Given the description of an element on the screen output the (x, y) to click on. 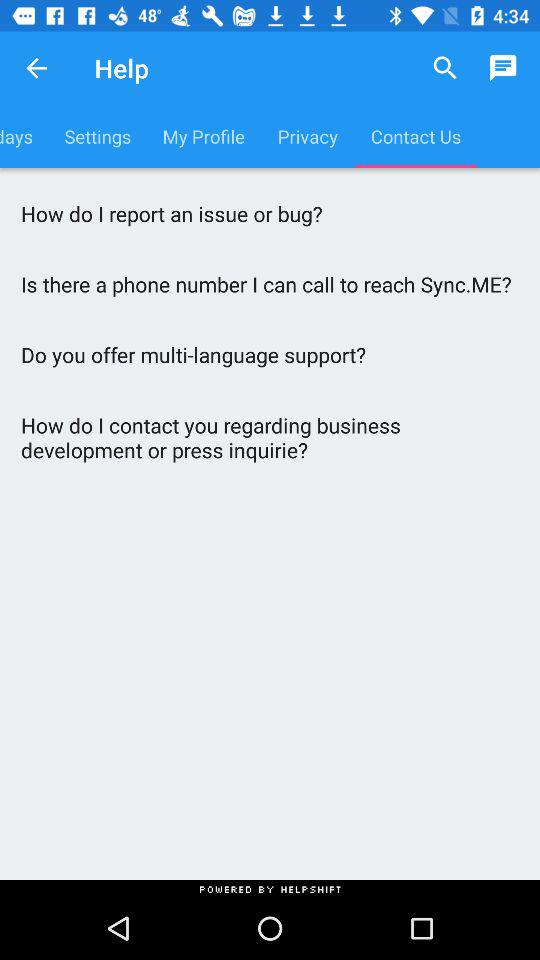
choose item above the contact us item (444, 67)
